Given the description of an element on the screen output the (x, y) to click on. 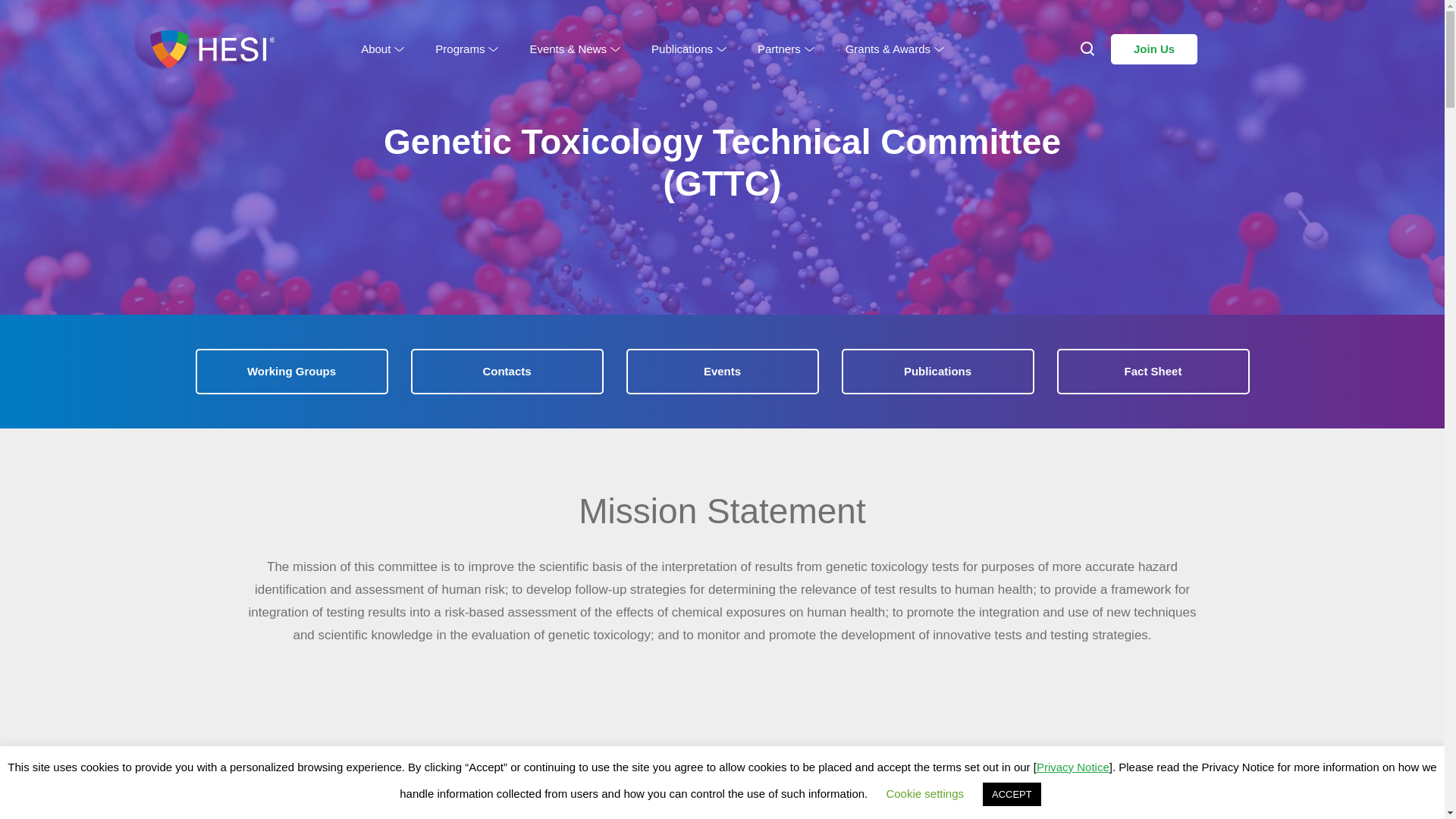
Events (722, 370)
Partners (784, 48)
Current Partners (809, 73)
Fact Sheet (1153, 370)
Peer-Reviewed Publications (723, 73)
Working Groups (291, 370)
HESI Conference Series (595, 73)
THRIVE (891, 73)
About (381, 48)
About HESI (409, 73)
Publications (937, 370)
Search (47, 22)
Programs (465, 48)
Join Us (1153, 49)
Publications (686, 48)
